Given the description of an element on the screen output the (x, y) to click on. 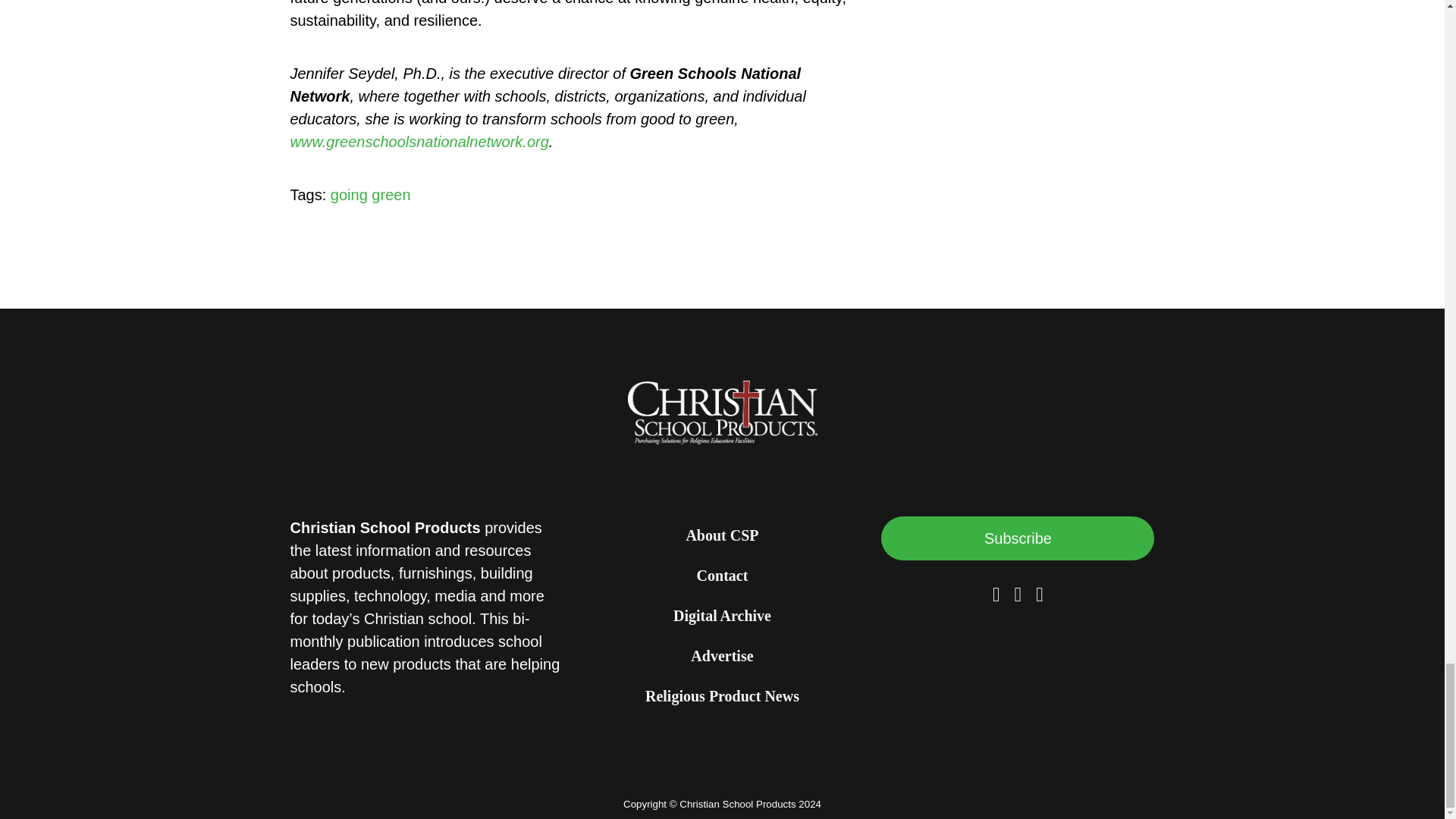
Digital Archive (721, 617)
www.greenschoolsnationalnetwork.org (418, 141)
About CSP (721, 536)
About CSP (721, 536)
Contact (722, 576)
Advertise (721, 657)
Contact (722, 576)
Religious Product News (722, 697)
going green (370, 194)
